Given the description of an element on the screen output the (x, y) to click on. 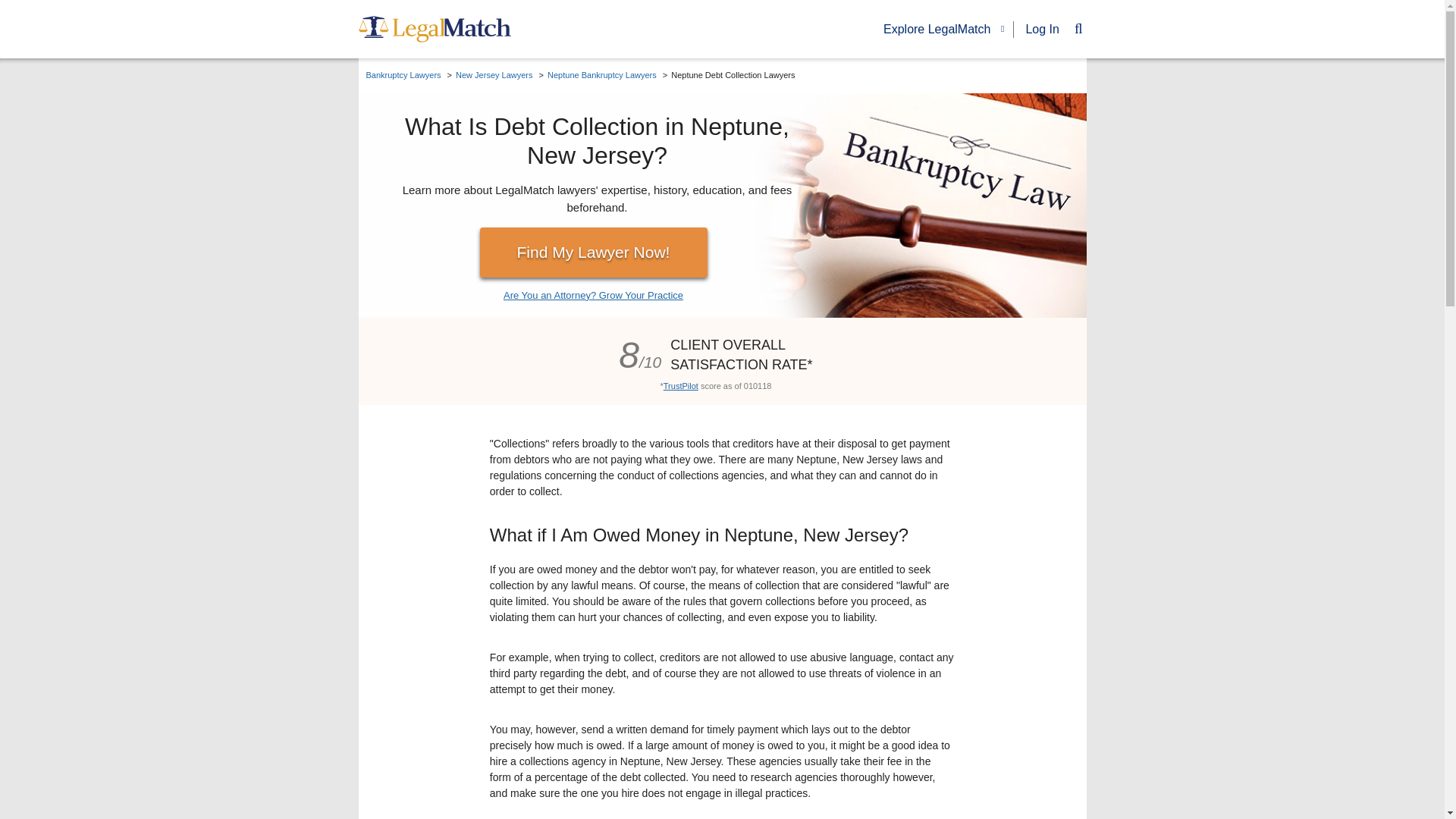
Log In (1041, 29)
